Given the description of an element on the screen output the (x, y) to click on. 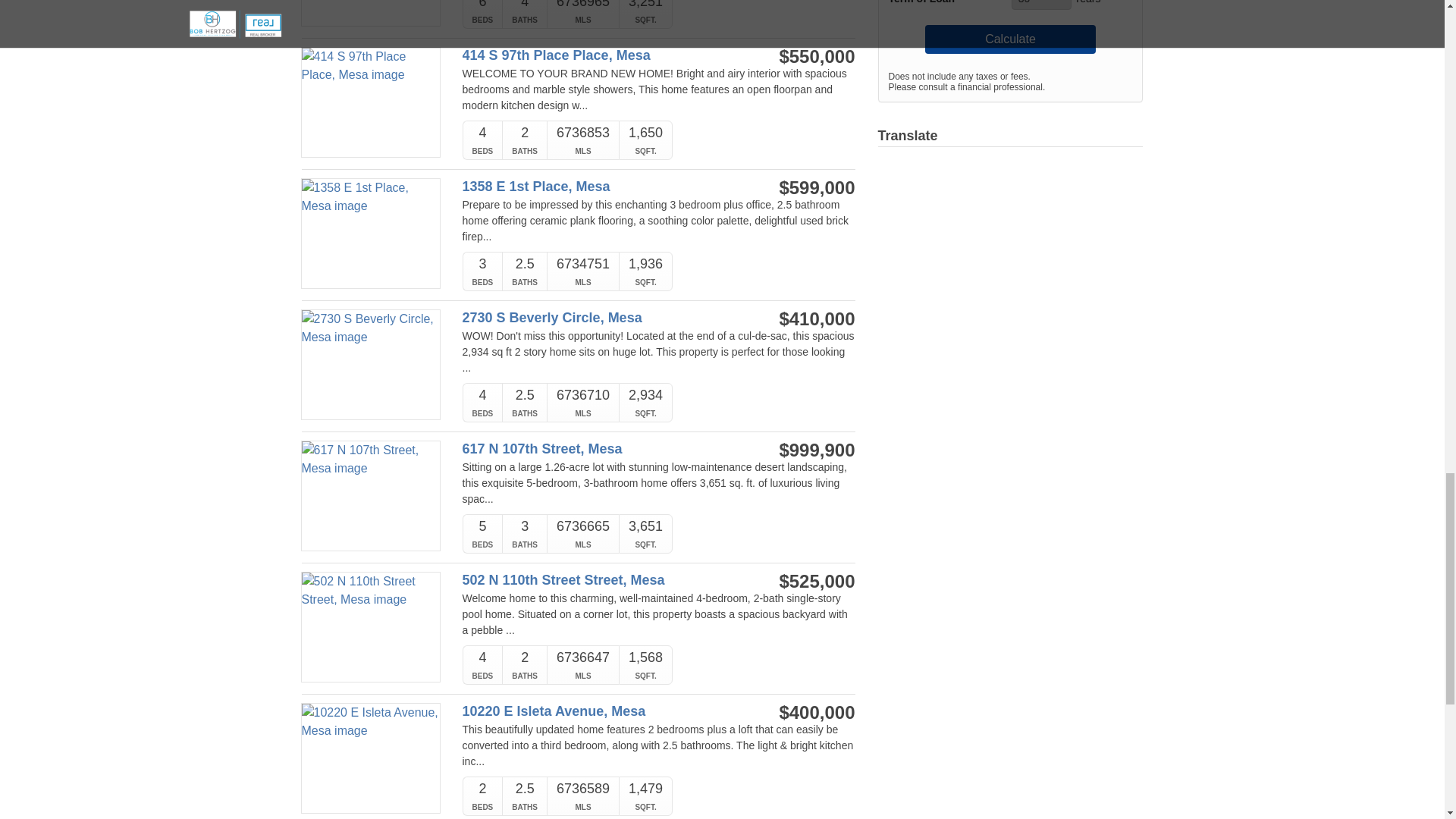
2730 S Beverly Circle, Mesa (600, 317)
30 (1041, 4)
1358 E 1st Place, Mesa (600, 186)
414 S 97th Place Place, Mesa (600, 55)
